Given the description of an element on the screen output the (x, y) to click on. 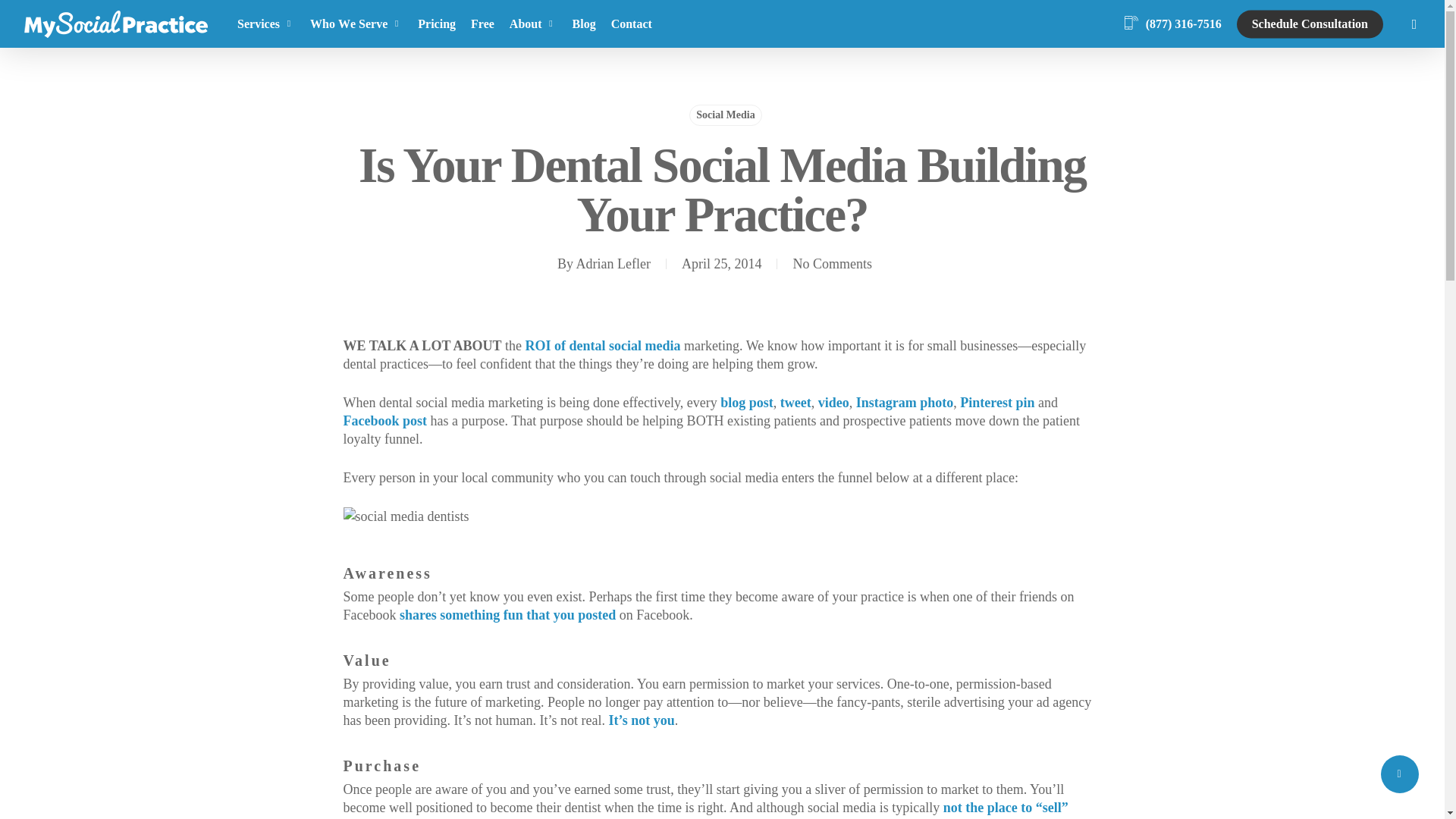
account (1414, 23)
Pinterest for Dentists (996, 402)
shares something fun that you posted (506, 614)
social media for dentists (641, 720)
blog post (746, 402)
Pinterest pin (996, 402)
Contact (631, 24)
Twitter for Dentists (795, 402)
Phone (1172, 23)
tweet (795, 402)
